Given the description of an element on the screen output the (x, y) to click on. 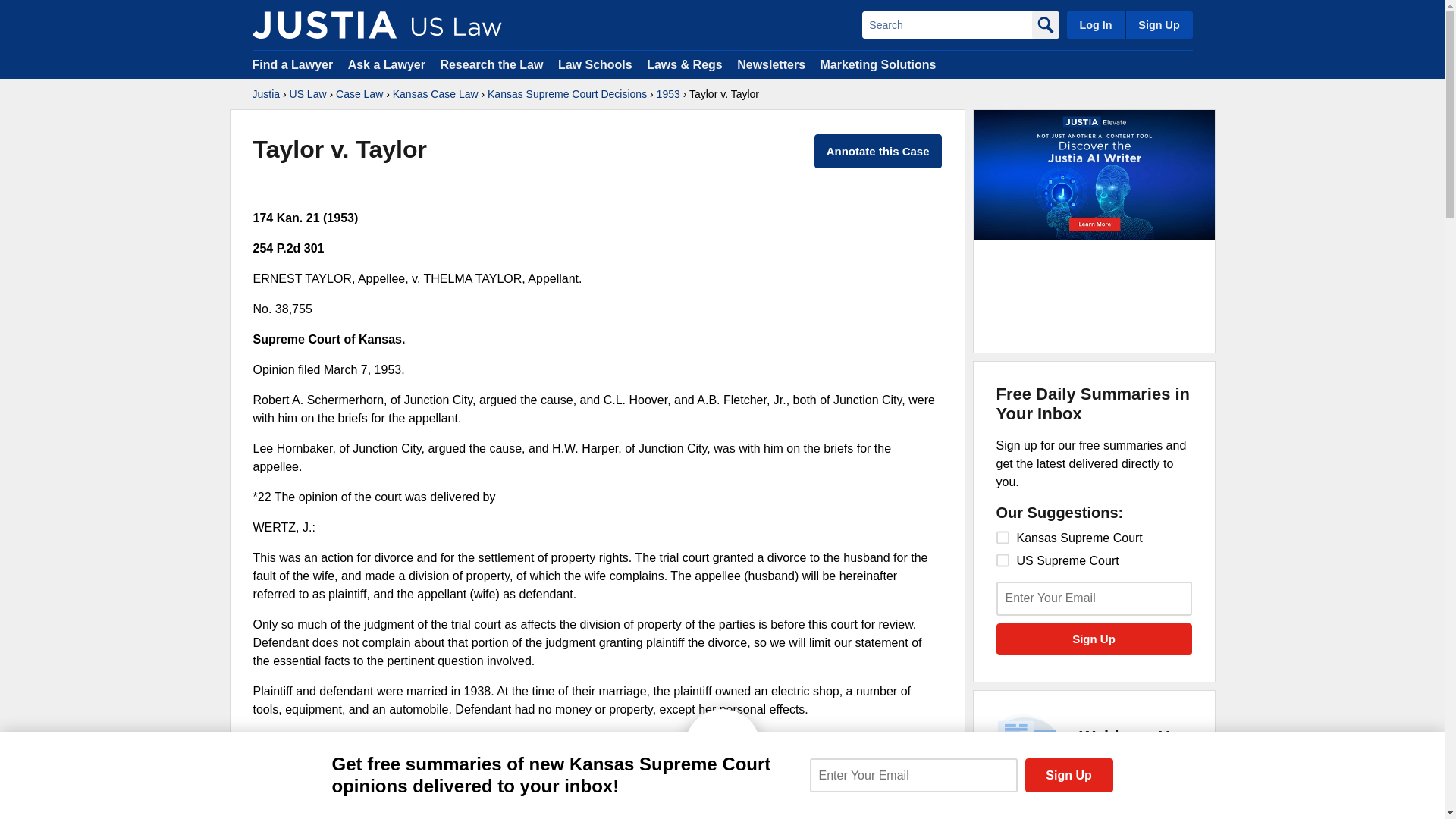
Enter email (1093, 598)
Case Law (359, 93)
Newsletters (770, 64)
Sign Up (1158, 24)
US Law (307, 93)
14 (1002, 559)
1953 (667, 93)
Justia (265, 93)
Justia (1014, 813)
Research the Law (323, 24)
Law Schools (491, 64)
Kansas Case Law (594, 64)
Enter email (436, 93)
Kansas Supreme Court Decisions (913, 775)
